Given the description of an element on the screen output the (x, y) to click on. 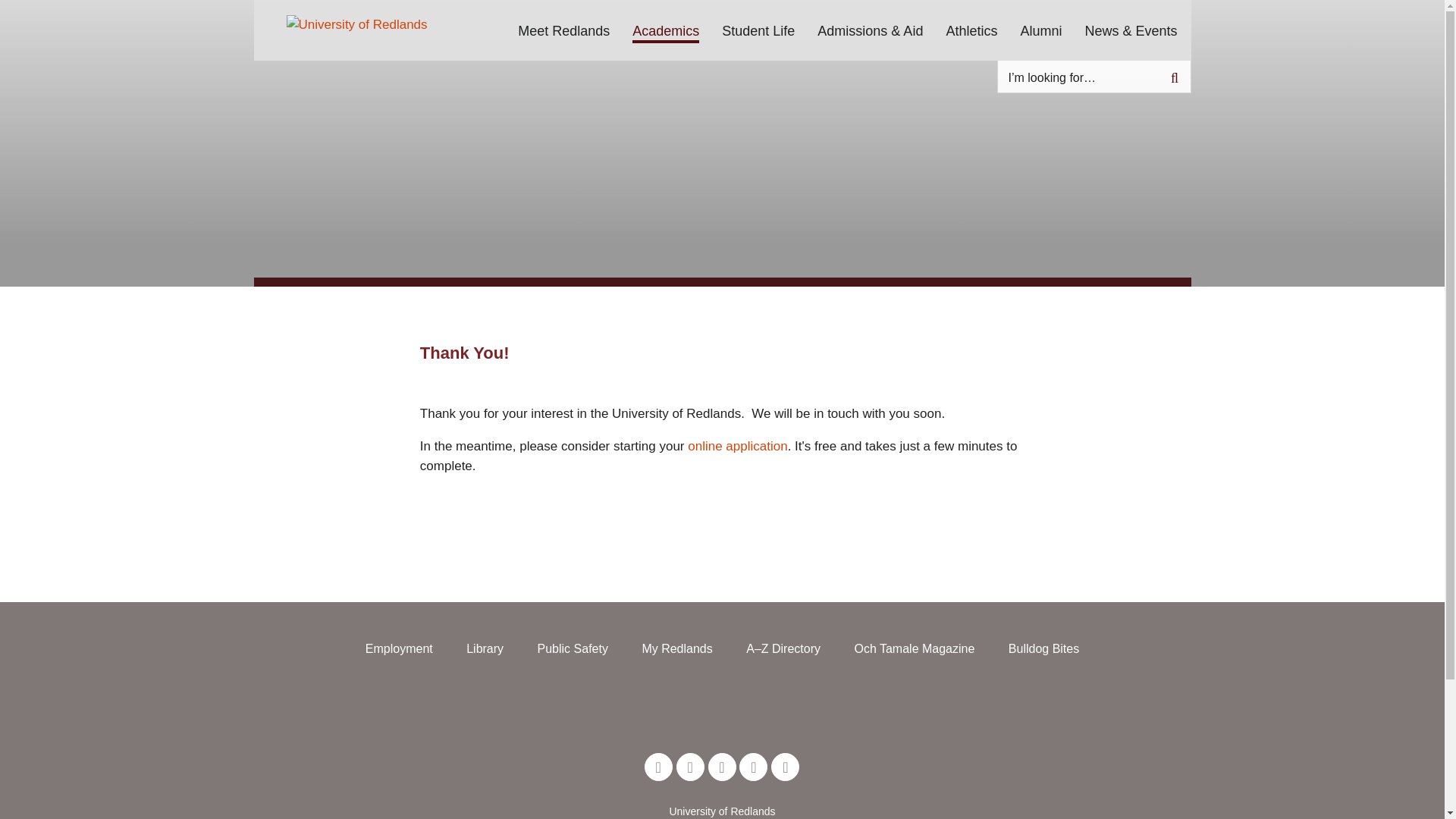
Library (484, 648)
Bulldog Bites (1043, 648)
Academics (664, 29)
Twitter (658, 766)
LinkedIn (721, 766)
Search (1174, 76)
Instagram (753, 766)
Och Tamale Magazine (913, 648)
online application (737, 445)
Youtube (785, 766)
Employment (398, 648)
Student Life (758, 29)
Alumni (1040, 29)
Meet Redlands (564, 29)
My Redlands (676, 648)
